Given the description of an element on the screen output the (x, y) to click on. 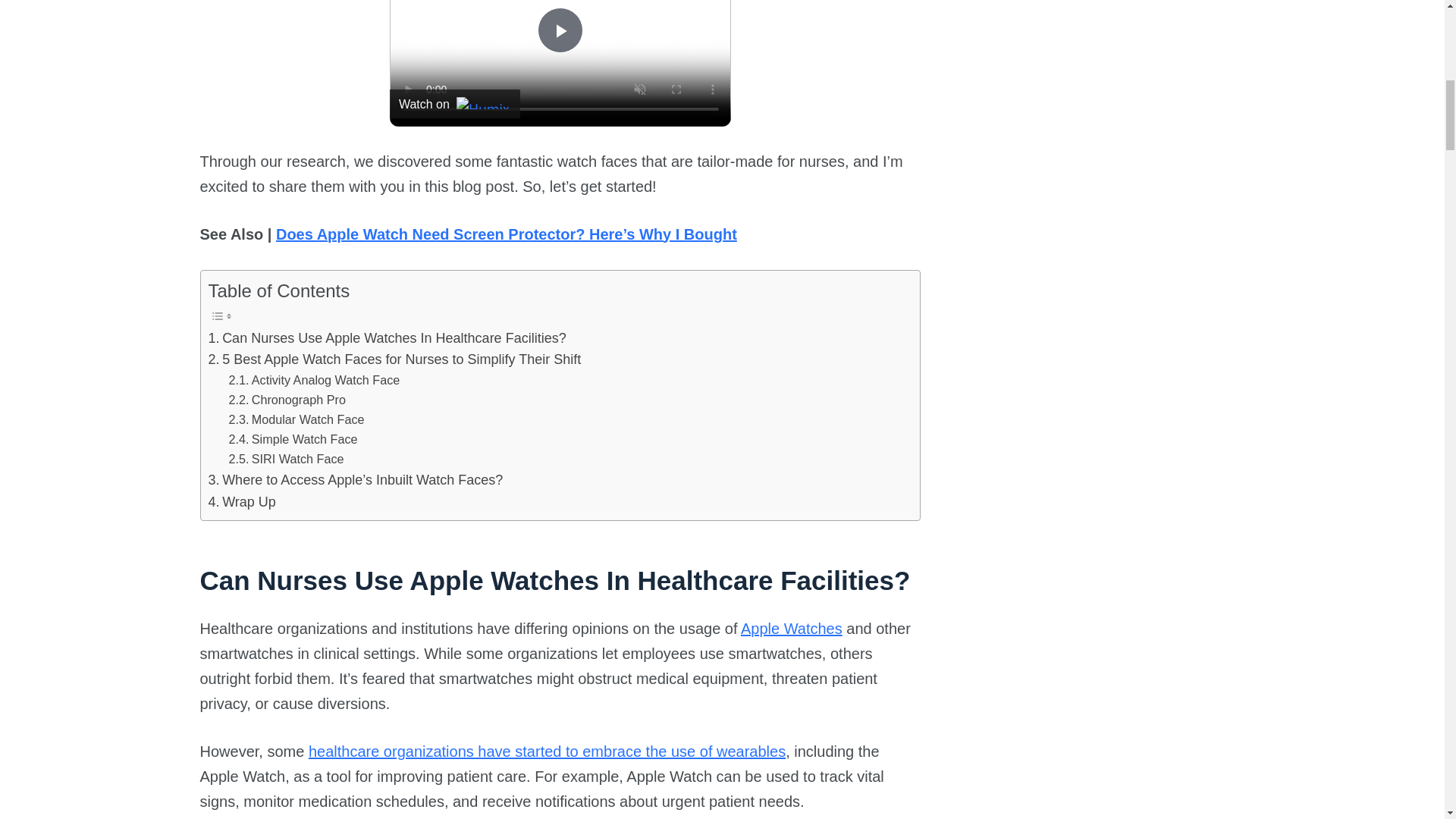
Play Video (560, 30)
Can Nurses Use Apple Watches In Healthcare Facilities? (387, 338)
Chronograph Pro (287, 400)
Modular Watch Face (296, 419)
Simple Watch Face (293, 439)
Play Video (560, 30)
5 Best Apple Watch Faces for Nurses to Simplify Their Shift (394, 359)
Activity Analog Watch Face (314, 380)
